Given the description of an element on the screen output the (x, y) to click on. 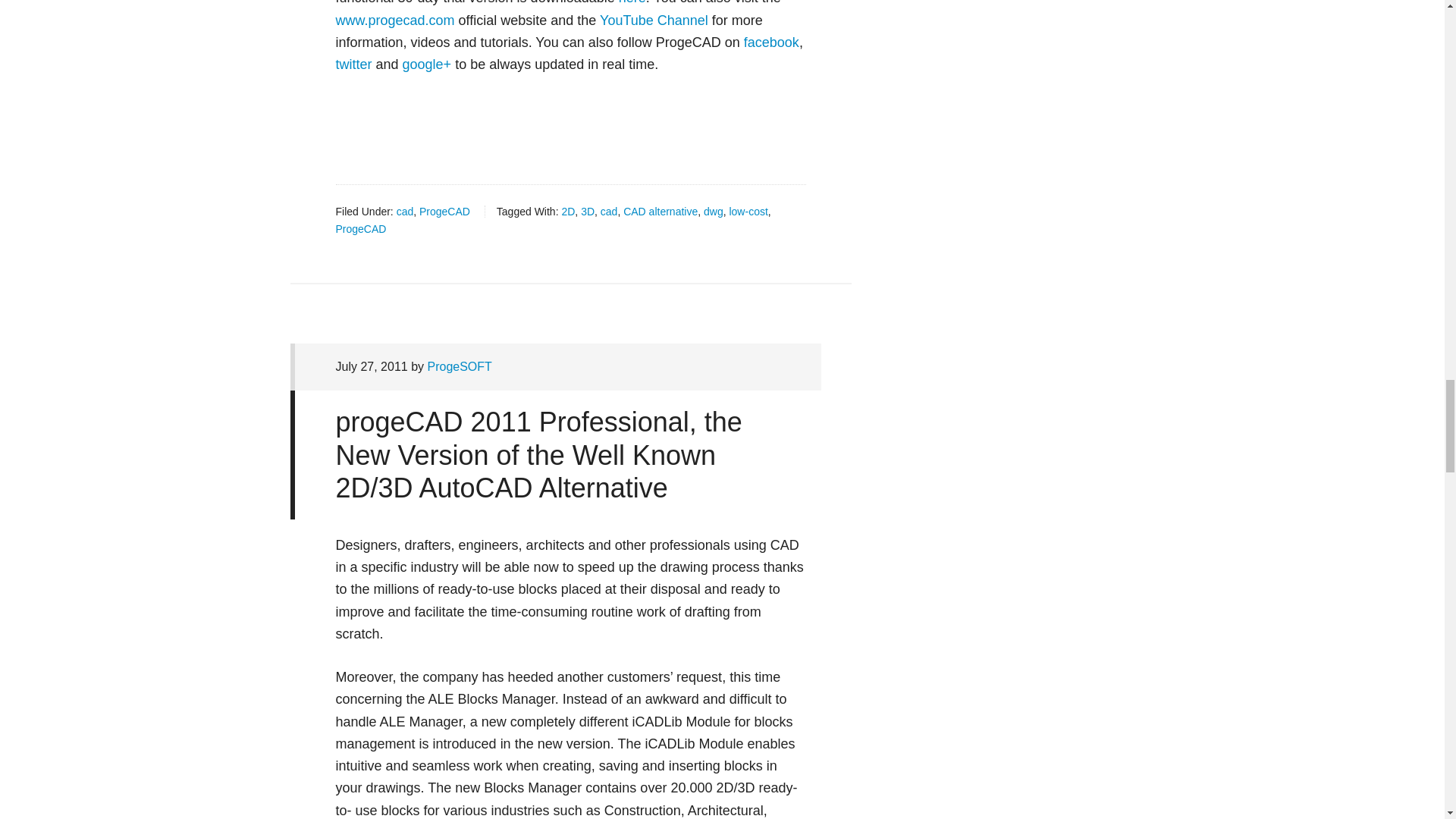
facebook (771, 42)
www.progecad.com (394, 20)
YouTube Channel (653, 20)
ProgeCAD (444, 211)
3D (587, 211)
twitter (352, 64)
2D (567, 211)
here (632, 2)
cad (404, 211)
